Given the description of an element on the screen output the (x, y) to click on. 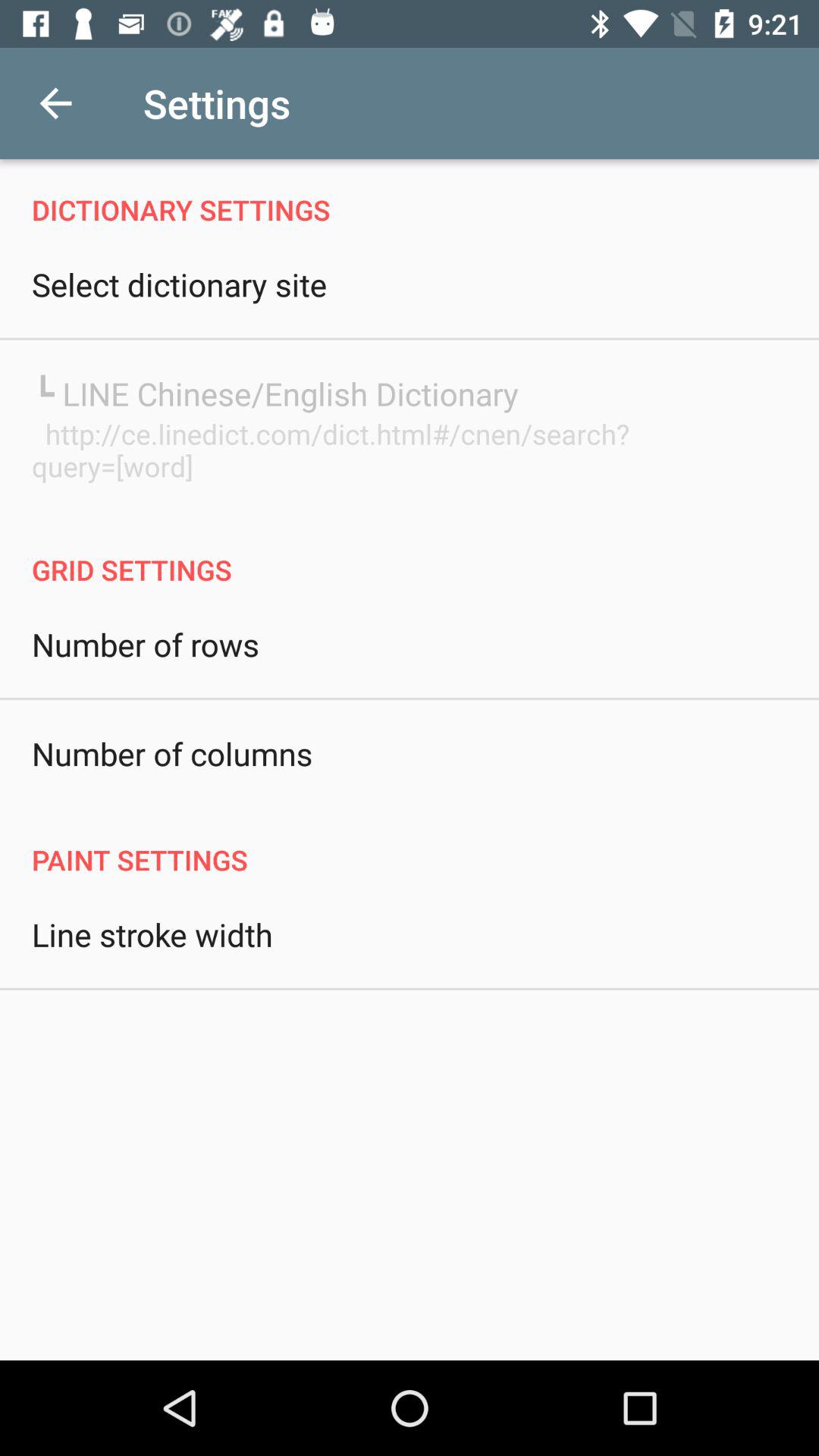
launch the item below the select dictionary site item (274, 393)
